Given the description of an element on the screen output the (x, y) to click on. 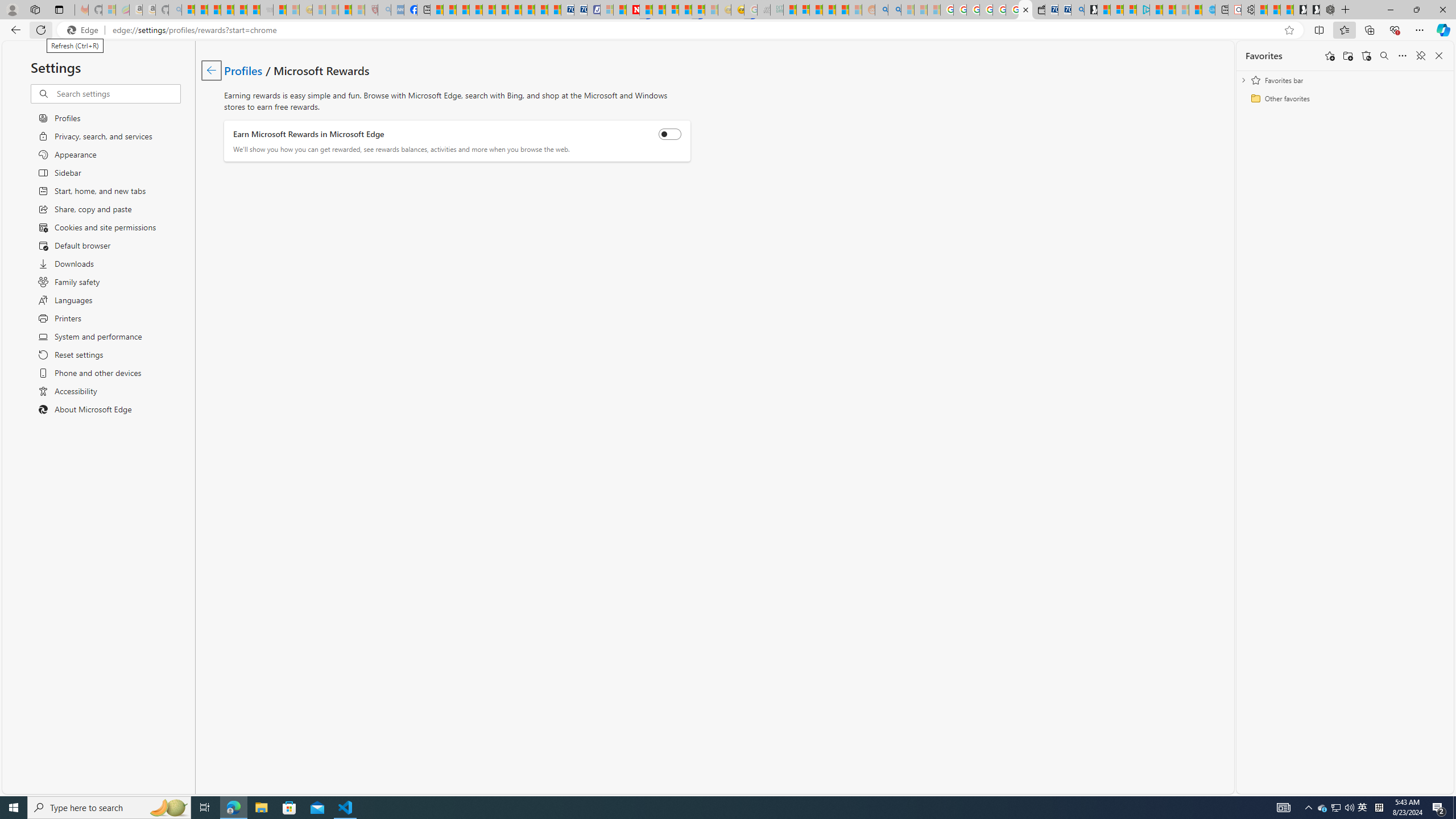
12 Popular Science Lies that Must be Corrected - Sleeping (357, 9)
Go back to Profiles page. (210, 70)
Cheap Hotels - Save70.com (580, 9)
New Report Confirms 2023 Was Record Hot | Watch (239, 9)
Edge (84, 29)
